Given the description of an element on the screen output the (x, y) to click on. 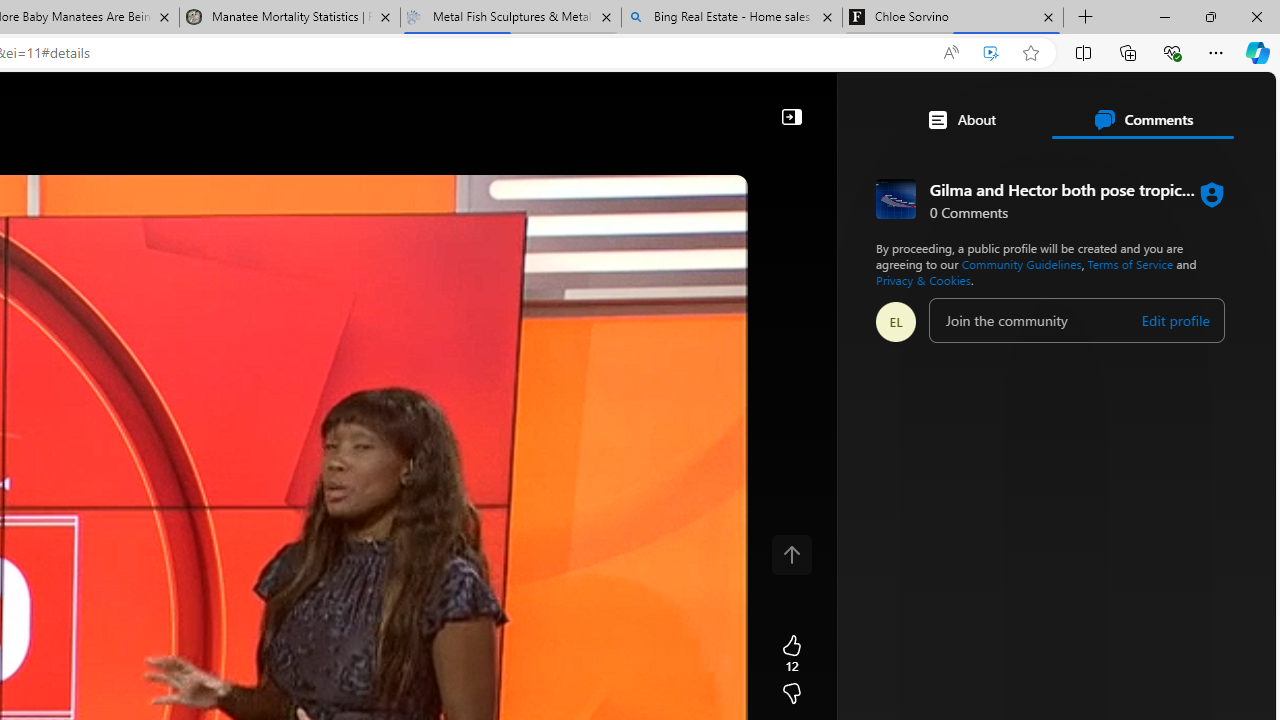
Terms of Service (1129, 264)
Jack Carter Trading (833, 439)
Bing Real Estate - Home sales and rental listings (732, 17)
Privacy & Cookies (923, 280)
Collapse (791, 115)
Chloe Sorvino (953, 17)
About (961, 119)
